Given the description of an element on the screen output the (x, y) to click on. 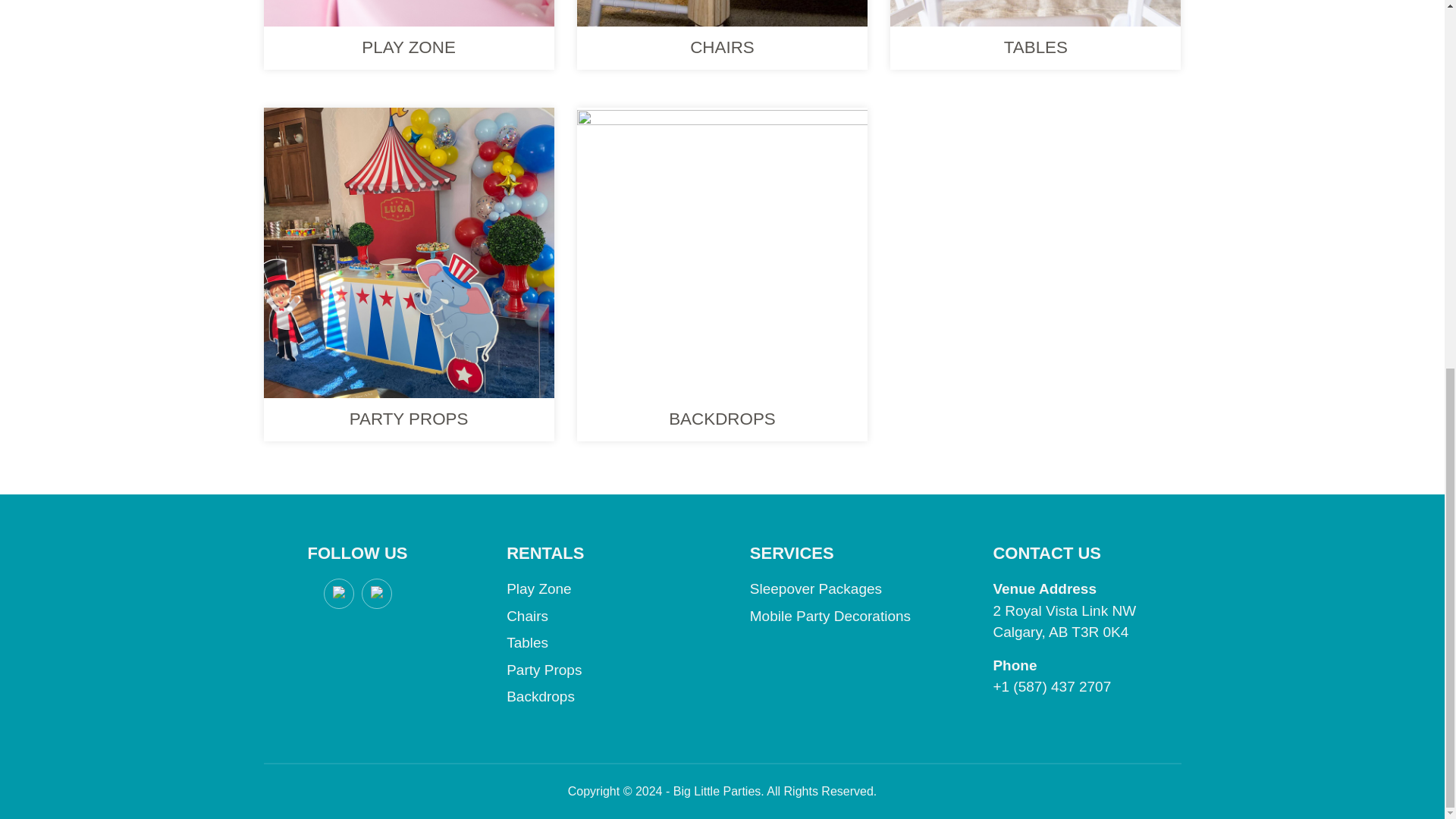
party-props (408, 252)
play-zone (408, 13)
Chairs (527, 616)
services (721, 252)
chairs (721, 13)
Play Zone (539, 588)
tables (1034, 13)
